Given the description of an element on the screen output the (x, y) to click on. 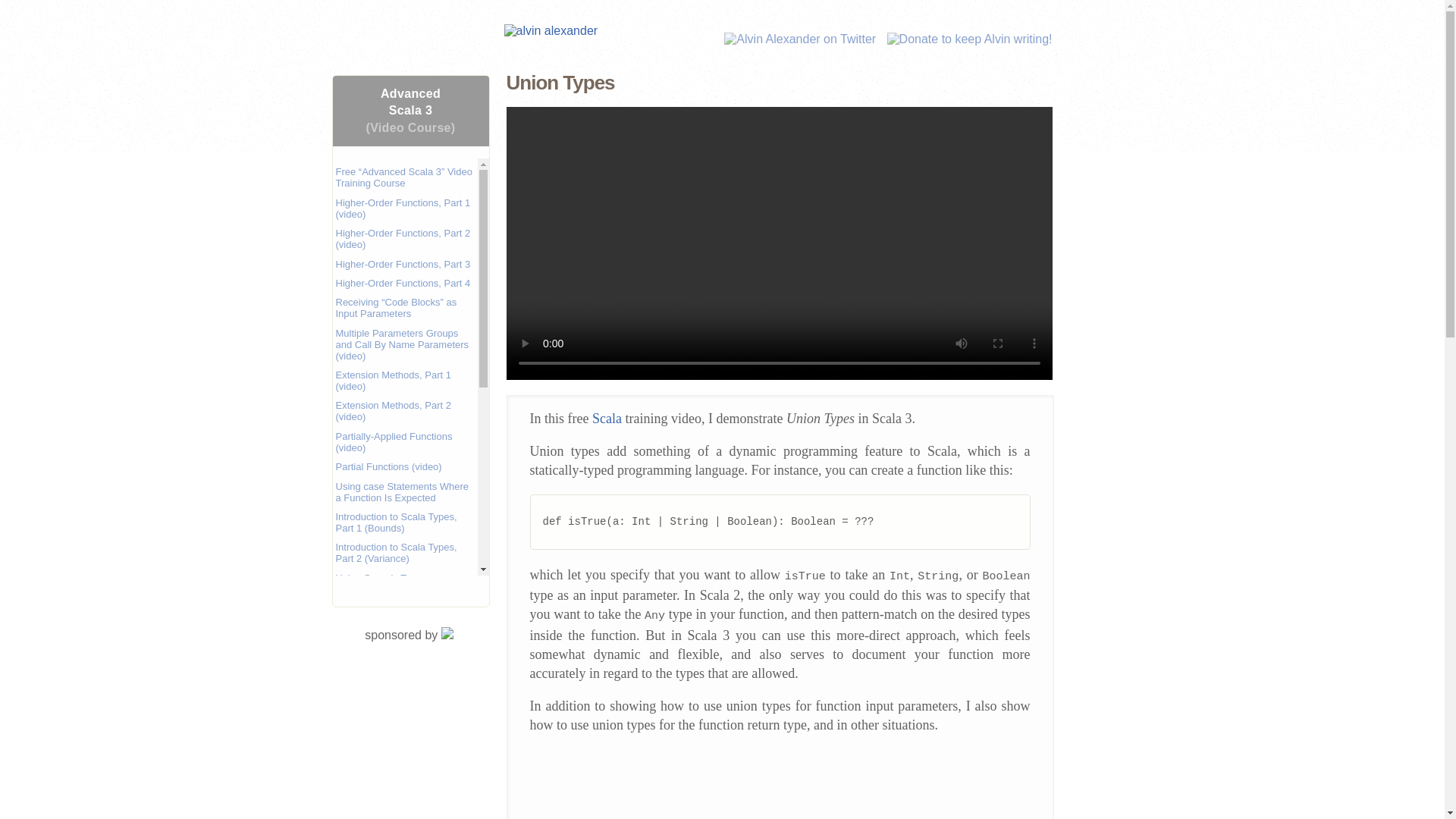
Using case Statements Where a Function Is Expected (401, 491)
About Alvin Alexander (677, 38)
Donate to keep Alvin writing! (965, 38)
Using Generic Type Parameters with Methods (390, 583)
Higher-Order Functions, Part 4 (402, 283)
Classes That Use Generic Type Parameters, Part 2 (391, 644)
Classes That Use Generic Type Parameters, Part 1 (391, 613)
Alvin Alexander on Twitter (796, 38)
Multiversal Equality (377, 758)
Modular Programming with Traits (393, 783)
Higher-Order Functions, Part 3 (402, 264)
Home (628, 38)
search using google (653, 38)
Scala (606, 418)
Bounds (351, 669)
